Given the description of an element on the screen output the (x, y) to click on. 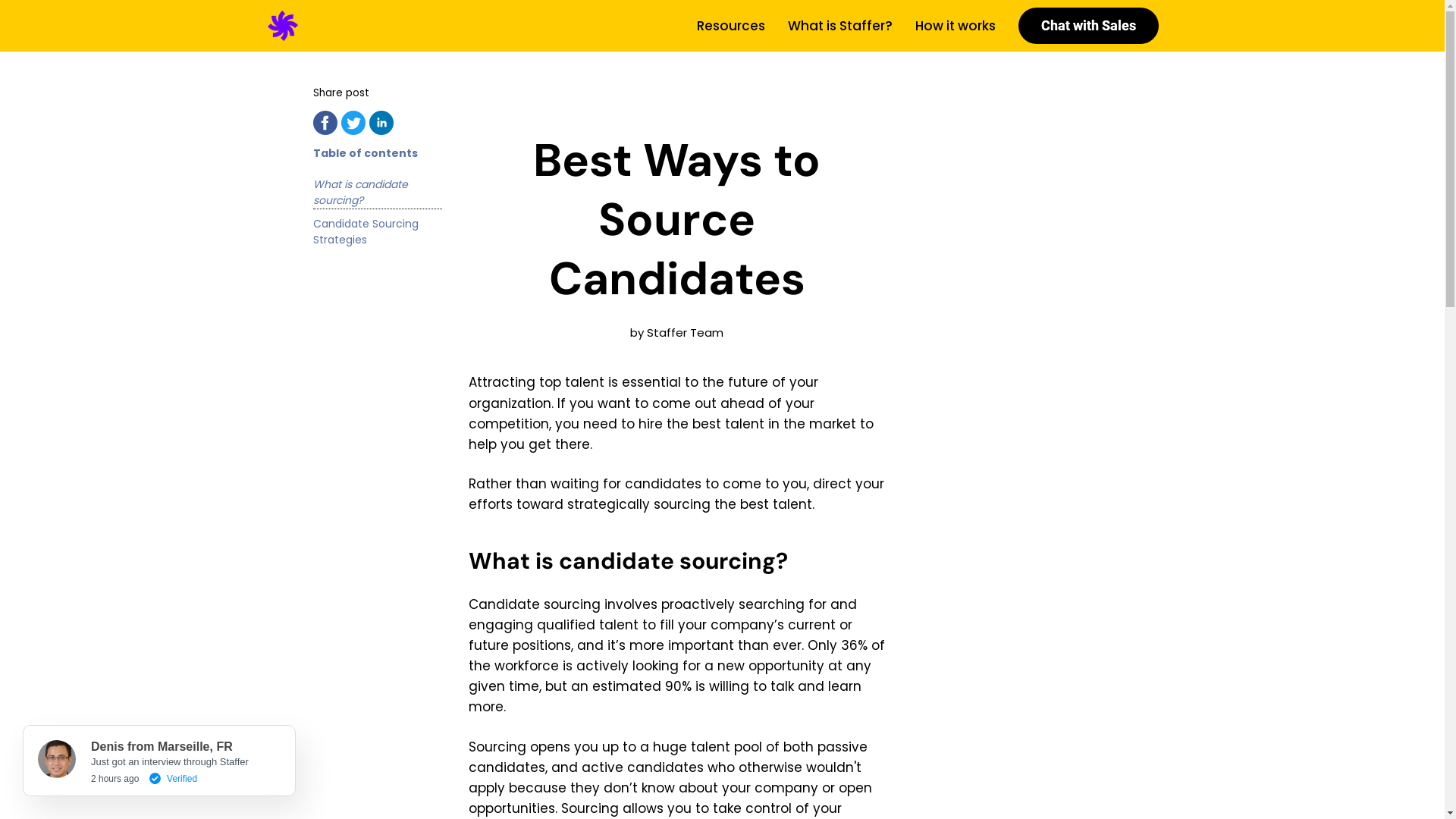
Resources Element type: text (730, 25)
How it works Element type: text (954, 25)
Candidate Sourcing Strategies Element type: text (376, 231)
Verified Element type: text (169, 775)
What is candidate sourcing? Element type: text (376, 192)
Chat with Sales Element type: text (1087, 25)
What is Staffer? Element type: text (839, 25)
